Given the description of an element on the screen output the (x, y) to click on. 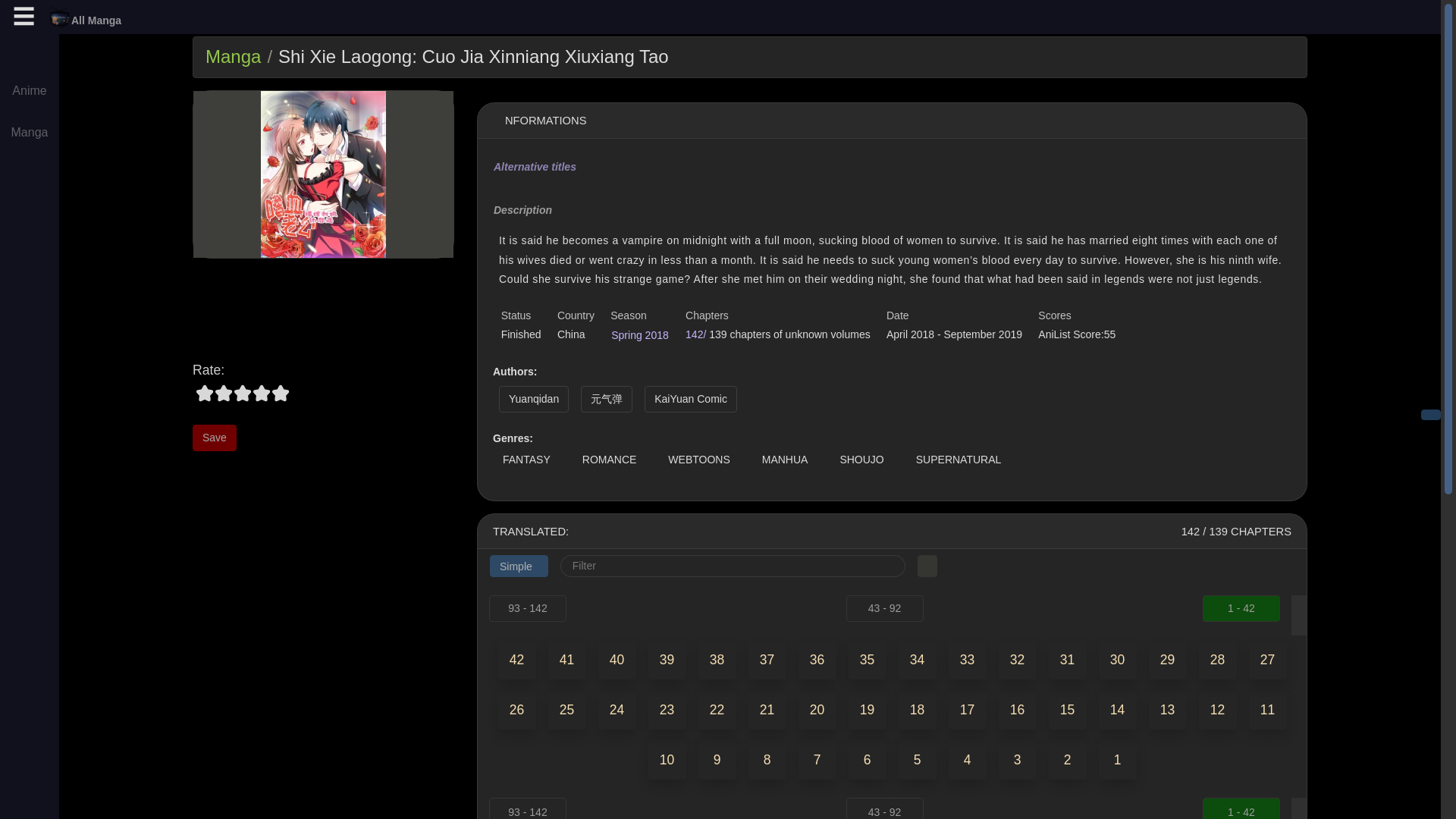
Spring 2018 (639, 334)
Alternative titles (534, 166)
Manga (232, 55)
Save (213, 438)
Histories (29, 252)
All Manga (85, 16)
ROMANCE (609, 459)
FANTASY (526, 459)
Manga (29, 133)
Anime (29, 92)
